Given the description of an element on the screen output the (x, y) to click on. 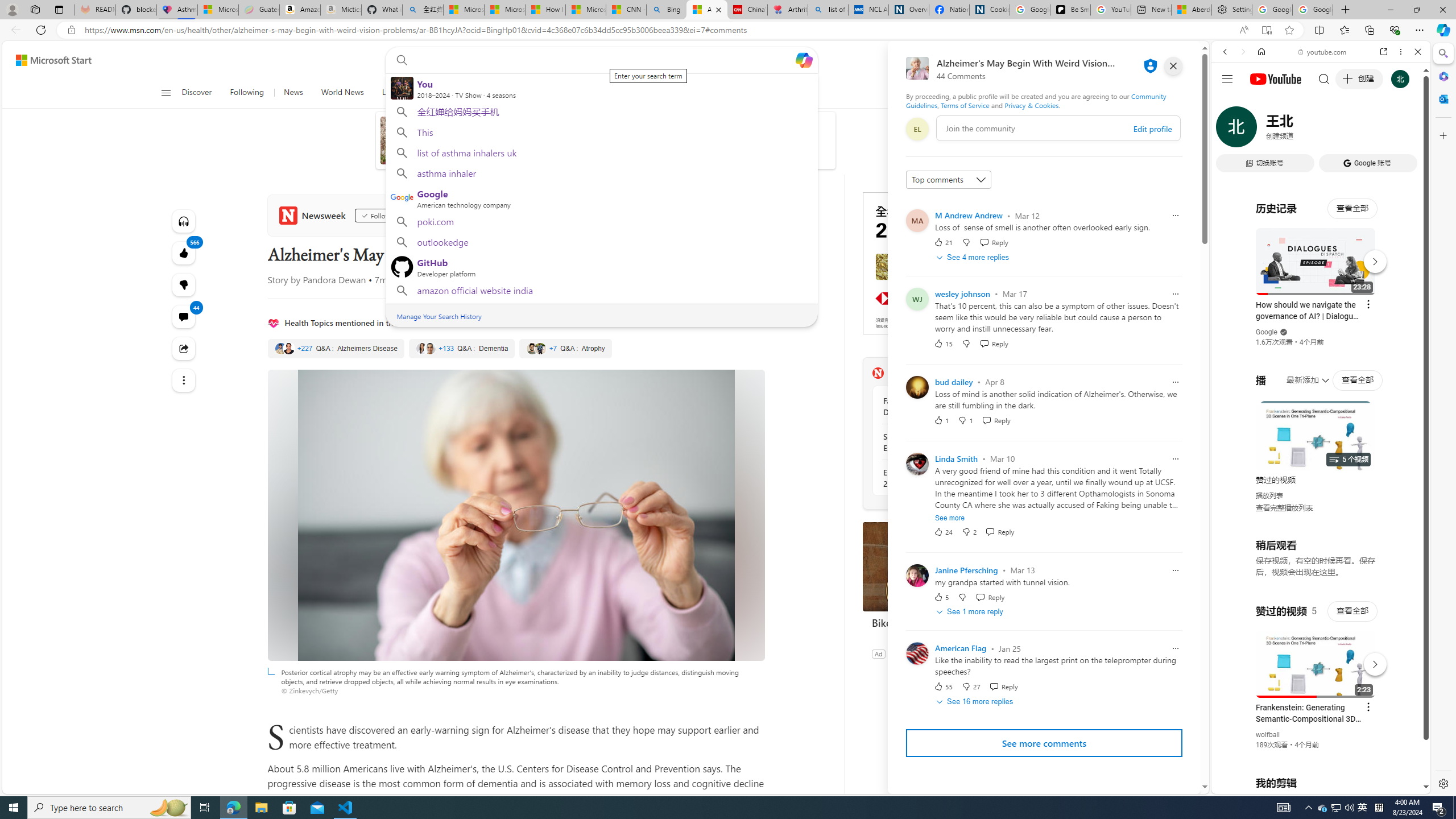
Technology (482, 92)
YouTube (1315, 655)
How I Got Rid of Microsoft Edge's Unnecessary Features (544, 9)
asthma inhaler (601, 172)
Search videos from youtube.com (1299, 373)
Close Customize pane (1442, 135)
55 Like (942, 686)
See more comments (1043, 742)
Trailer #2 [HD] (1320, 337)
